Given the description of an element on the screen output the (x, y) to click on. 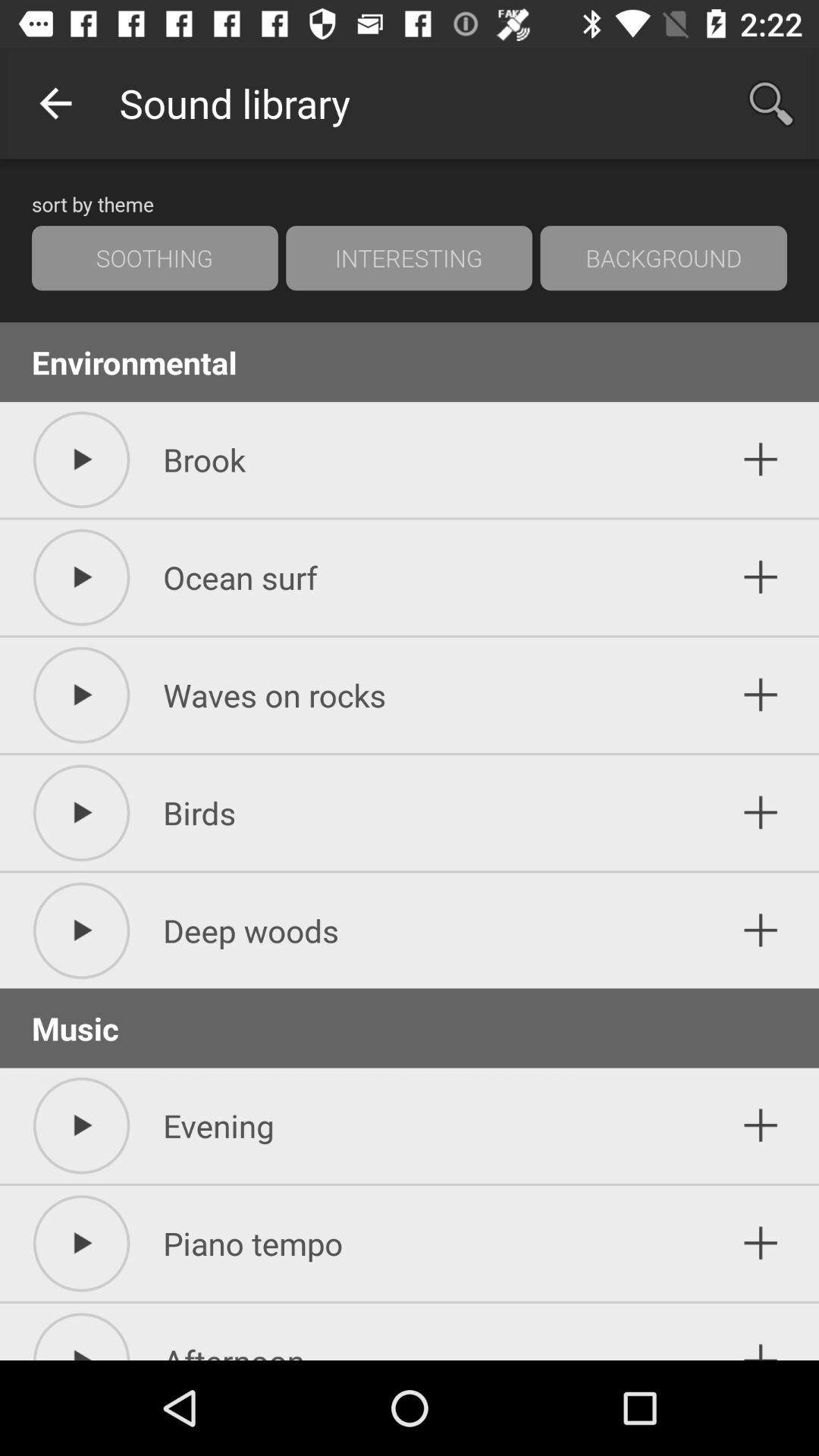
add sound (761, 812)
